Given the description of an element on the screen output the (x, y) to click on. 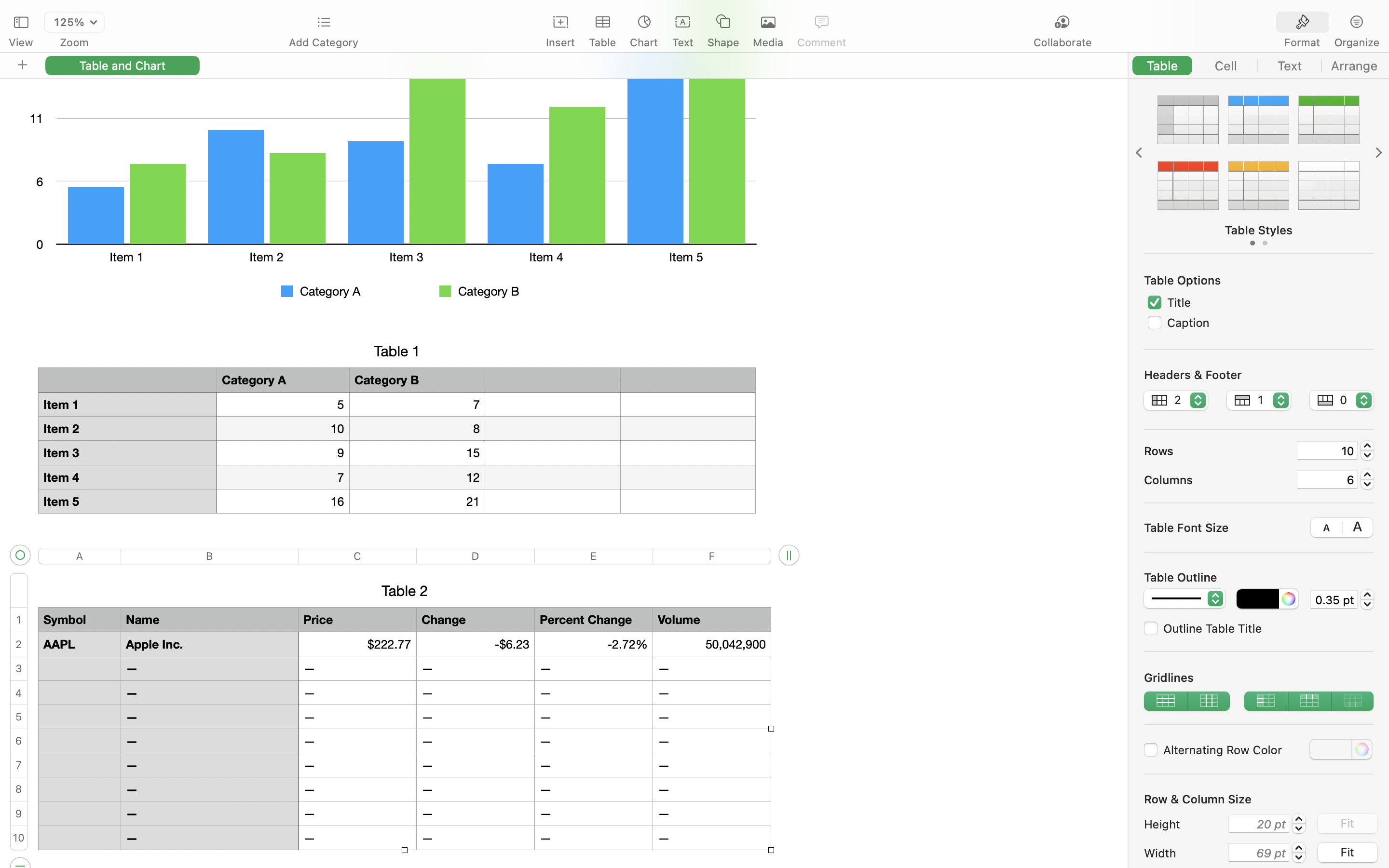
Row & Column Size Element type: AXStaticText (1197, 798)
68.5999984741211 Element type: AXIncrementor (1298, 852)
Headers & Footer Element type: AXStaticText (1192, 374)
0.3499999940395355 Element type: AXIncrementor (1367, 598)
